Given the description of an element on the screen output the (x, y) to click on. 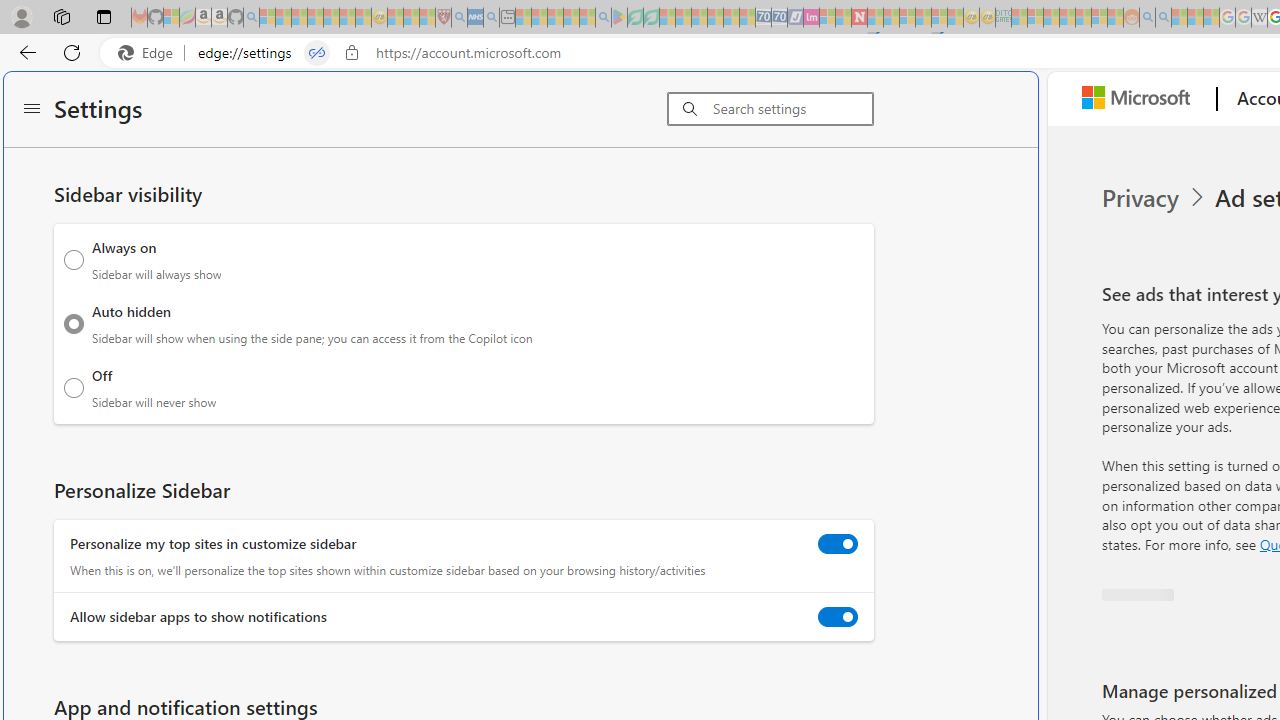
google - Search - Sleeping (603, 17)
MSNBC - MSN - Sleeping (1019, 17)
